Given the description of an element on the screen output the (x, y) to click on. 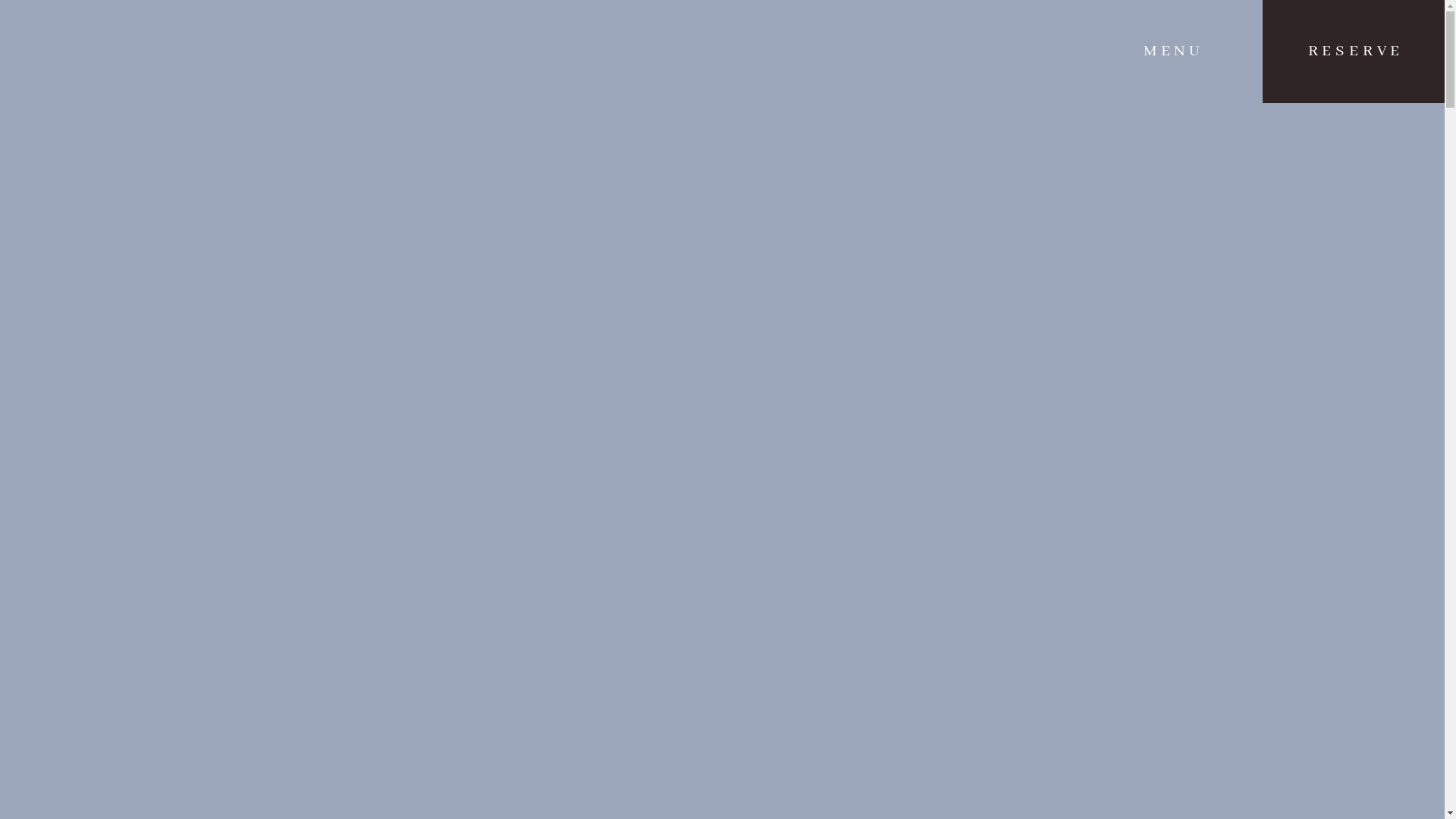
RESERVE Element type: text (1353, 51)
